Given the description of an element on the screen output the (x, y) to click on. 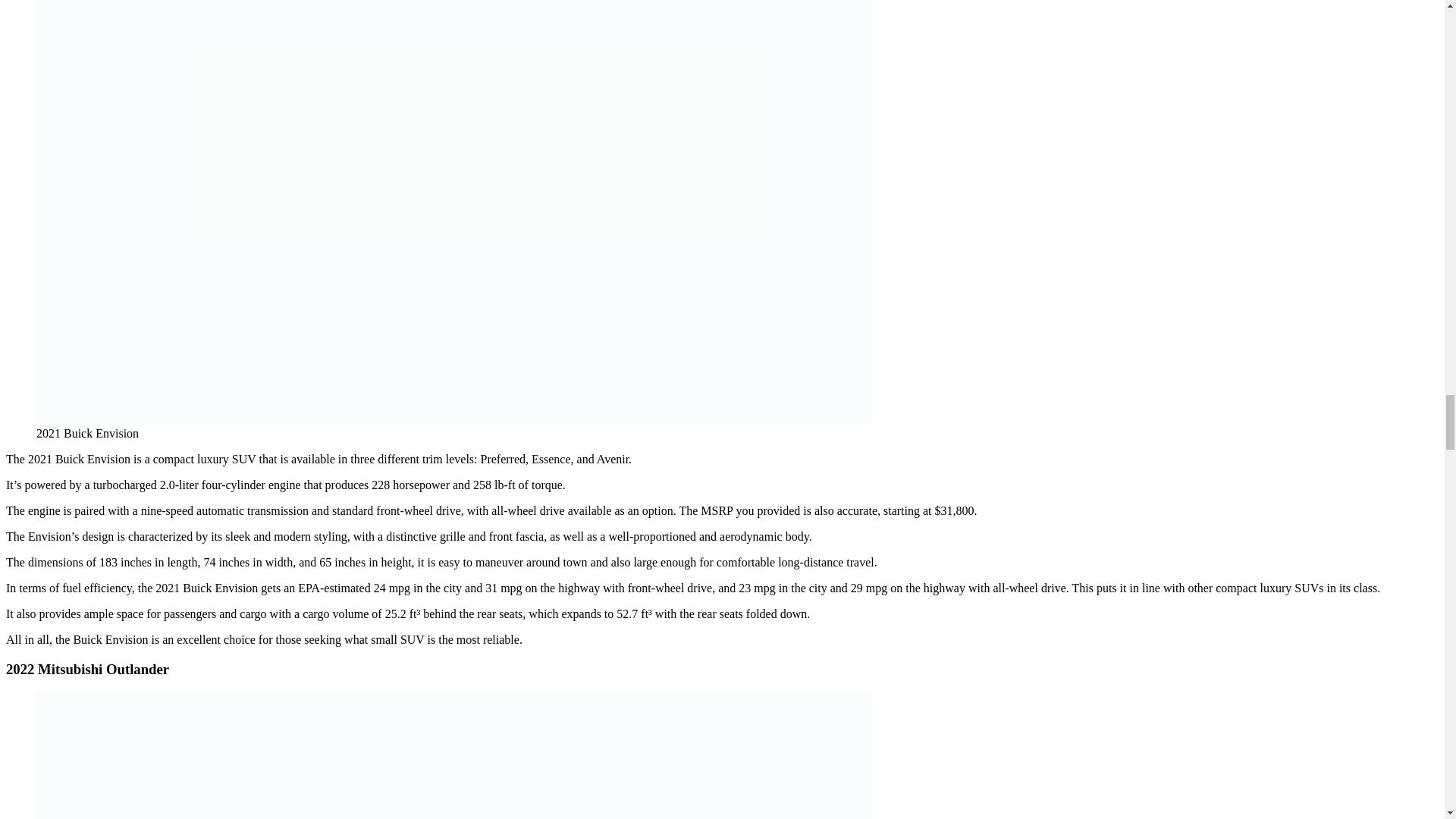
2022 Mitsubishi Outlander (454, 755)
